Given the description of an element on the screen output the (x, y) to click on. 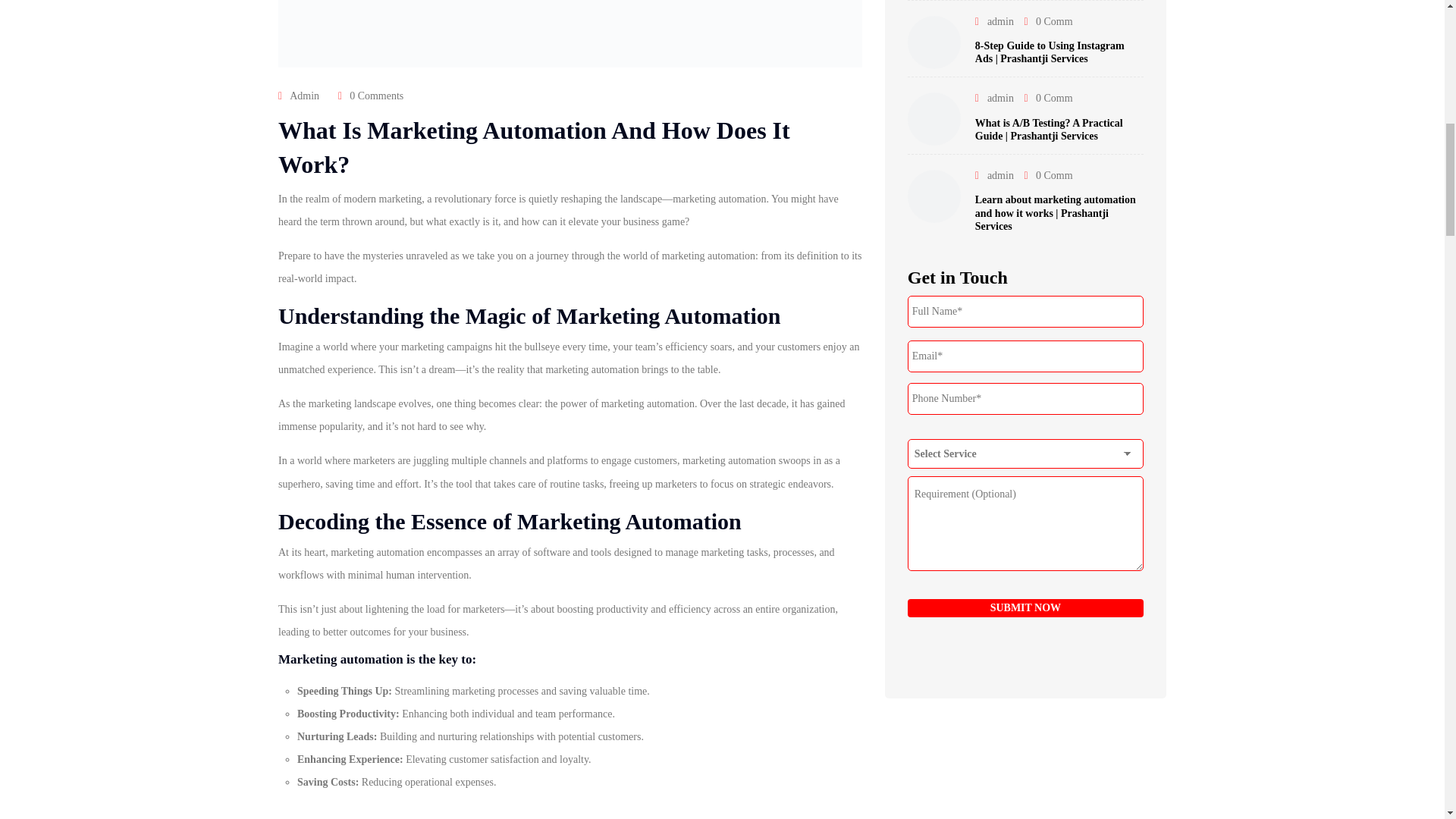
View all posts by admin (1000, 21)
View all posts by admin (303, 95)
SUBMIT NOW (1024, 607)
View all posts by admin (1000, 98)
